Given the description of an element on the screen output the (x, y) to click on. 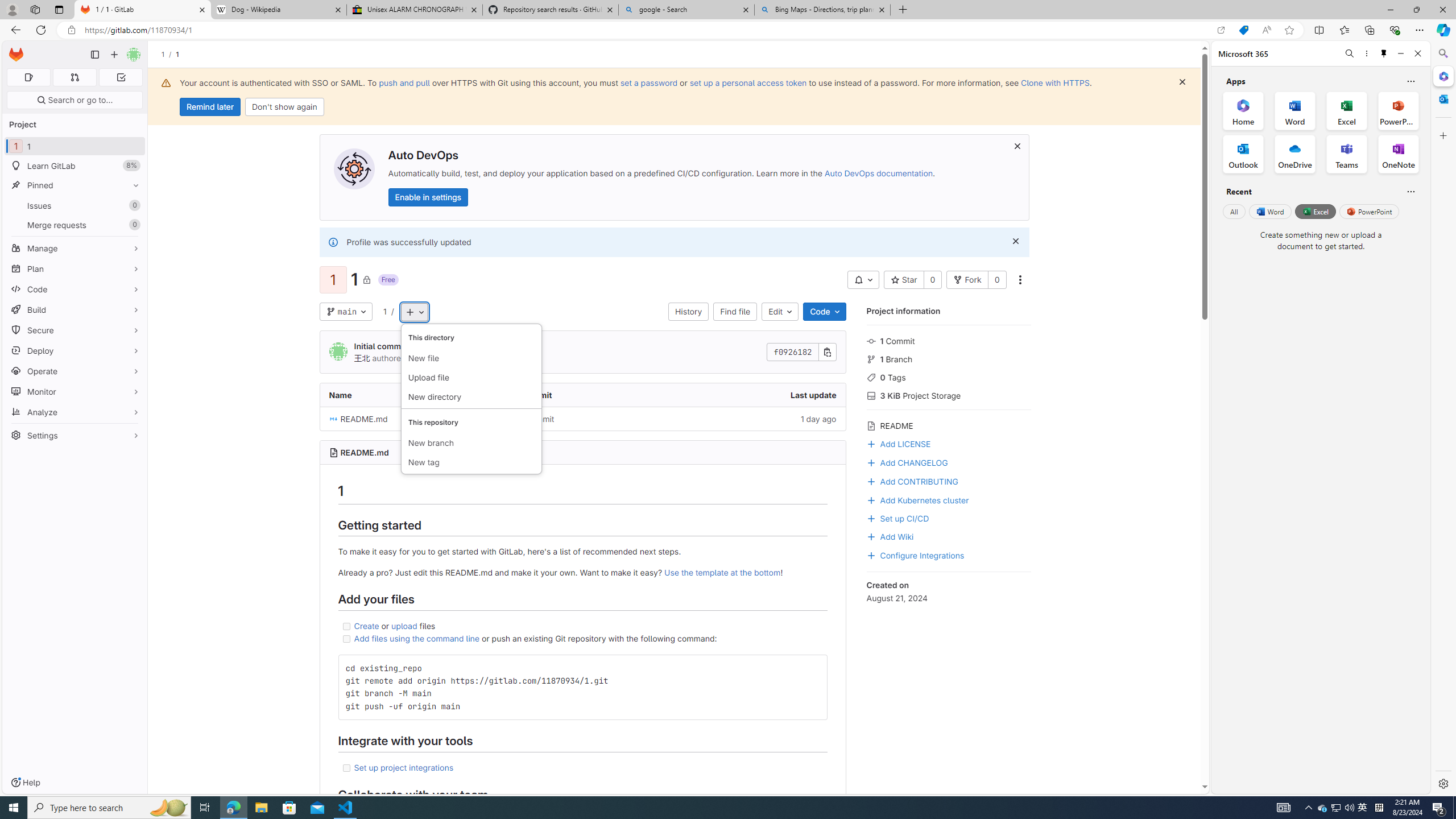
Plan (74, 268)
Side bar (1443, 418)
Class: s16 icon gl-mr-3 gl-text-gray-500 (871, 425)
3 KiB Project Storage (948, 394)
1 day ago (757, 418)
New file (470, 357)
Configure Integrations (914, 554)
Add to tree (414, 312)
Fork (967, 280)
More actions (1019, 280)
